Given the description of an element on the screen output the (x, y) to click on. 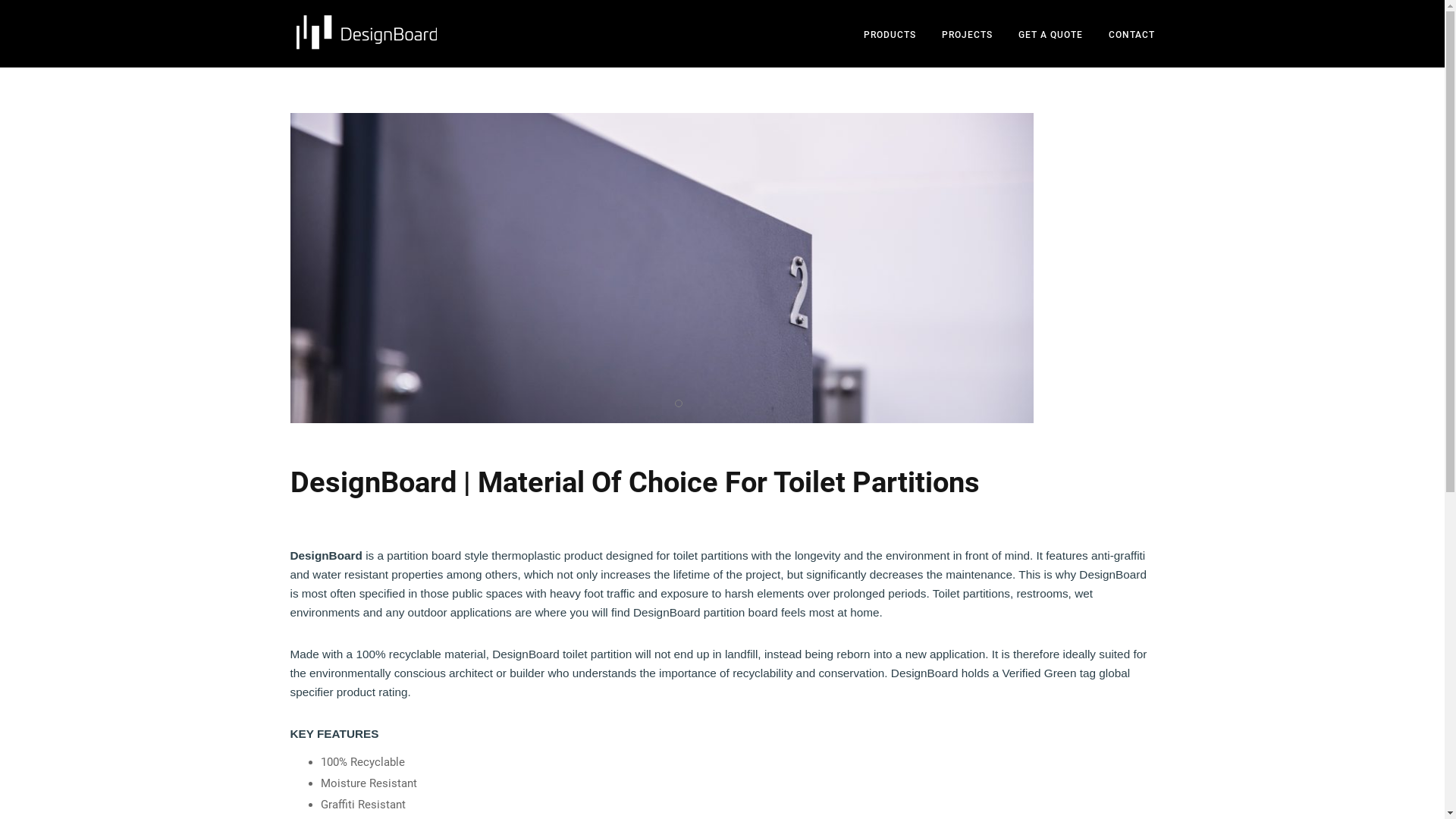
GET A QUOTE Element type: text (1049, 34)
PROJECTS Element type: text (966, 34)
CONTACT Element type: text (1131, 34)
PRODUCTS Element type: text (888, 34)
